Given the description of an element on the screen output the (x, y) to click on. 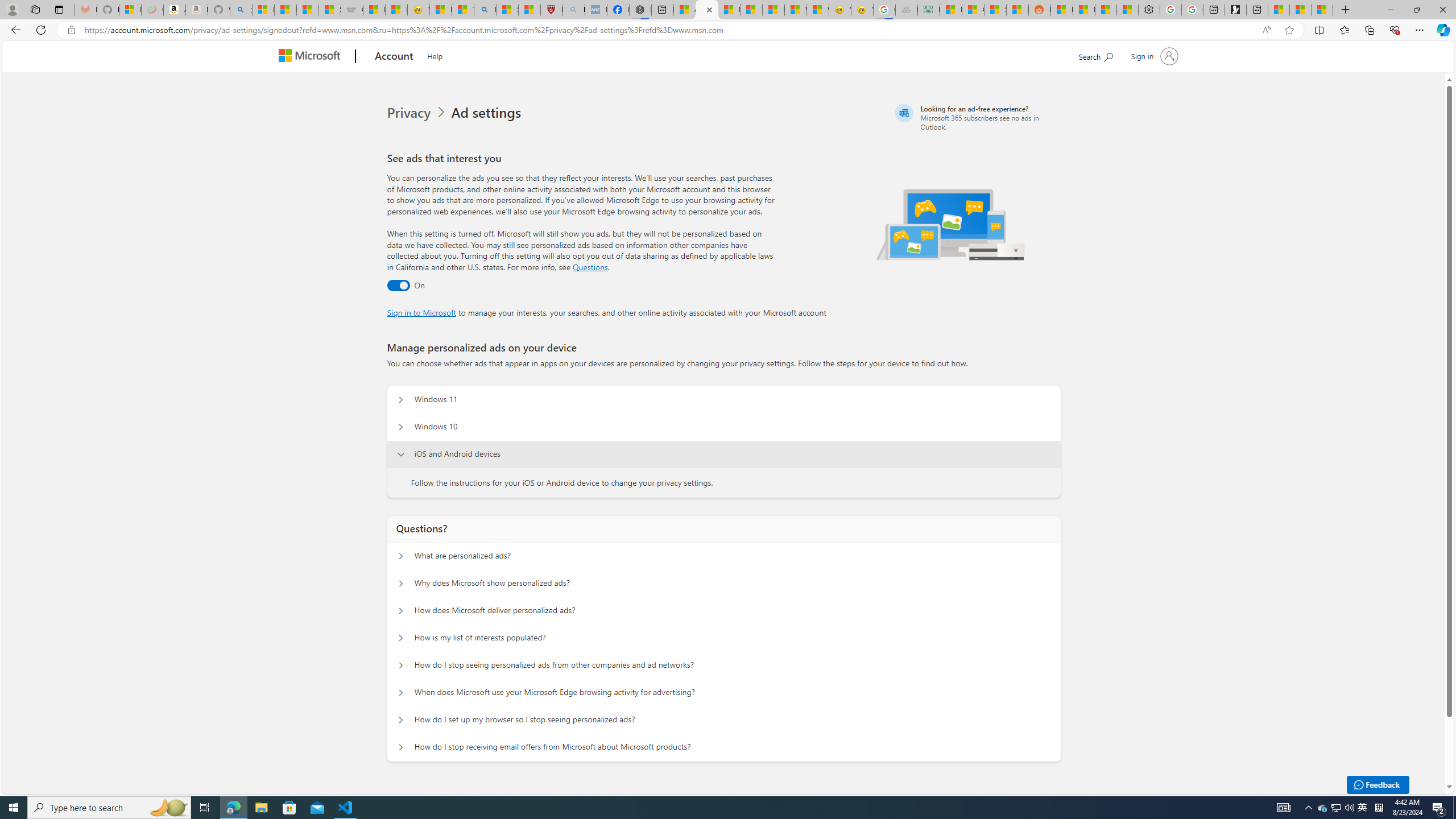
Sign in to your account (1153, 55)
Science - MSN (507, 9)
Microsoft Start (1300, 9)
Ad settings toggle (398, 285)
MSNBC - MSN (950, 9)
Favorites (1344, 29)
Help (435, 54)
Split screen (1318, 29)
